Given the description of an element on the screen output the (x, y) to click on. 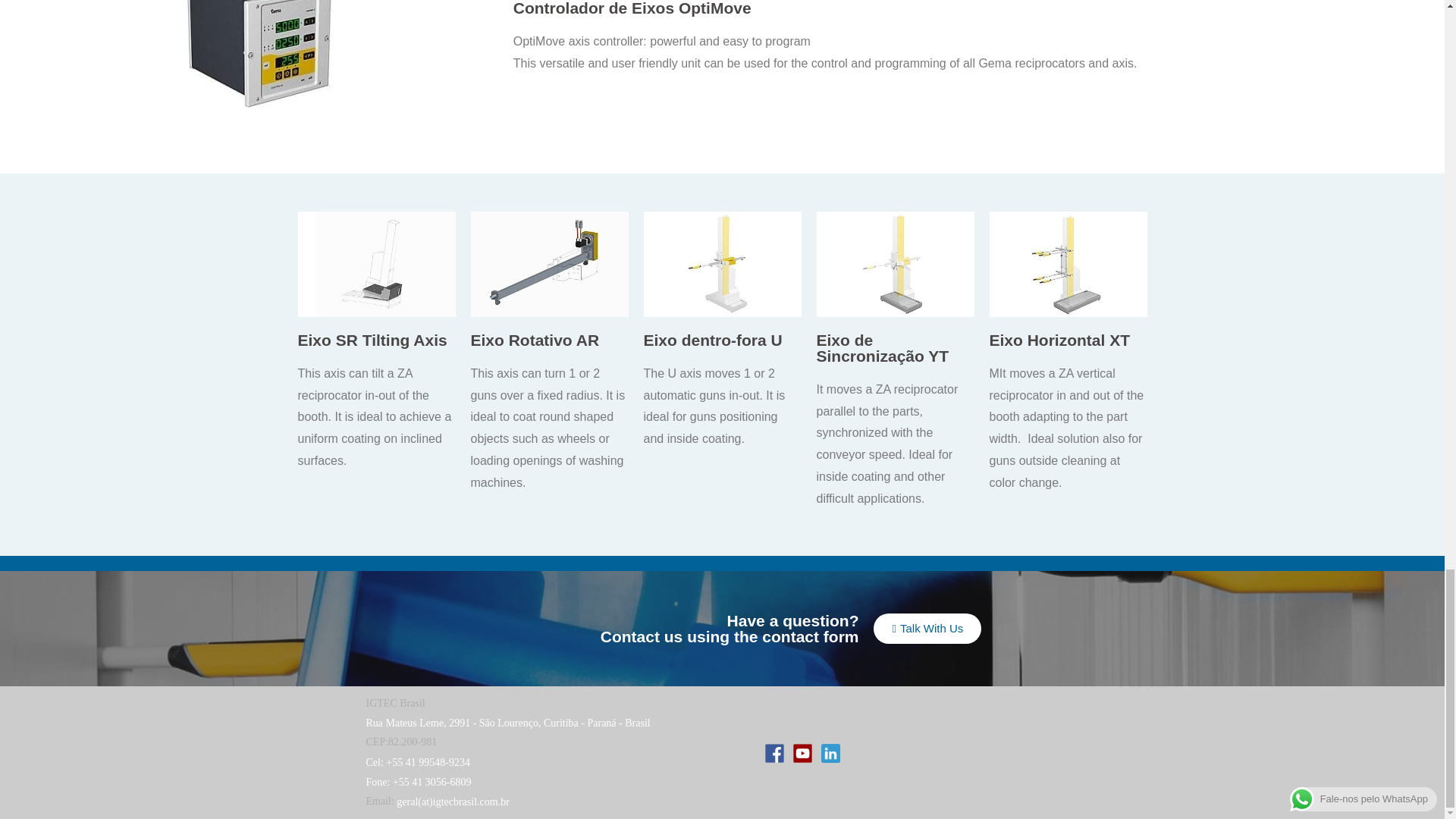
Follow Us on Facebook (774, 752)
Follow Us on Linkedin (830, 752)
Talk With Us (927, 628)
Follow Us on Youtube (802, 752)
